Given the description of an element on the screen output the (x, y) to click on. 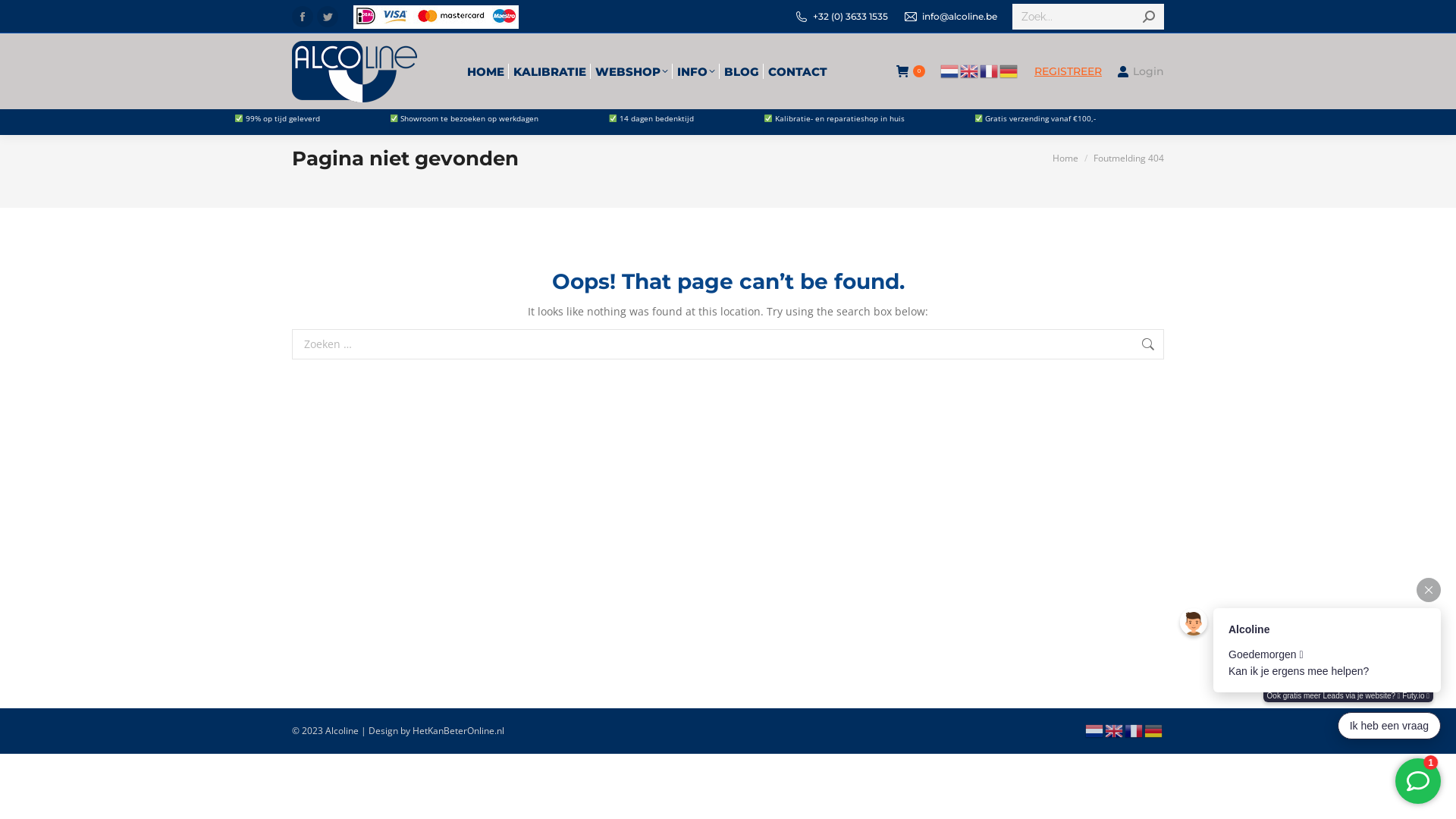
French Element type: hover (1134, 729)
CONTACT Element type: text (796, 70)
Twitter page opens in new window Element type: text (327, 16)
Dutch Element type: hover (1094, 729)
Go! Element type: text (24, 16)
Home Element type: text (1065, 157)
HOME Element type: text (485, 70)
WEBSHOP Element type: text (630, 70)
Facebook page opens in new window Element type: text (302, 16)
info@alcoline.be Element type: text (950, 16)
INFO Element type: text (695, 70)
HetKanBeterOnline.nl Element type: text (458, 730)
English Element type: hover (1114, 729)
KALIBRATIE Element type: text (548, 70)
REGISTREER Element type: text (1067, 71)
German Element type: hover (1154, 729)
English Element type: hover (969, 70)
Search form Element type: hover (1088, 16)
German Element type: hover (1009, 70)
Go! Element type: text (1188, 345)
BLOG Element type: text (740, 70)
Login Element type: text (1140, 71)
French Element type: hover (989, 70)
 0 Element type: text (910, 71)
+32 (0) 3633 1535 Element type: text (850, 16)
Dutch Element type: hover (950, 70)
